Given the description of an element on the screen output the (x, y) to click on. 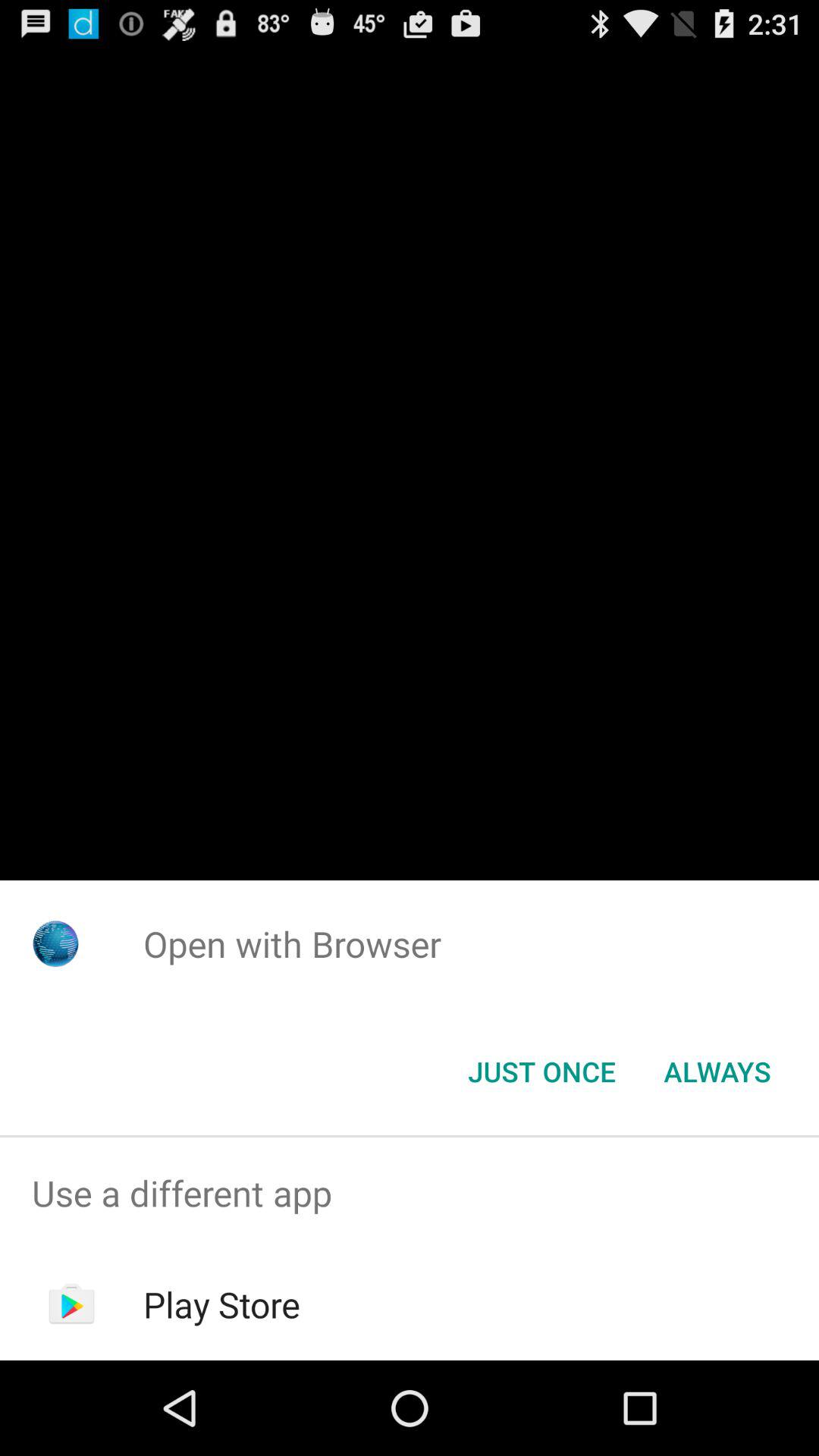
launch the always item (717, 1071)
